Given the description of an element on the screen output the (x, y) to click on. 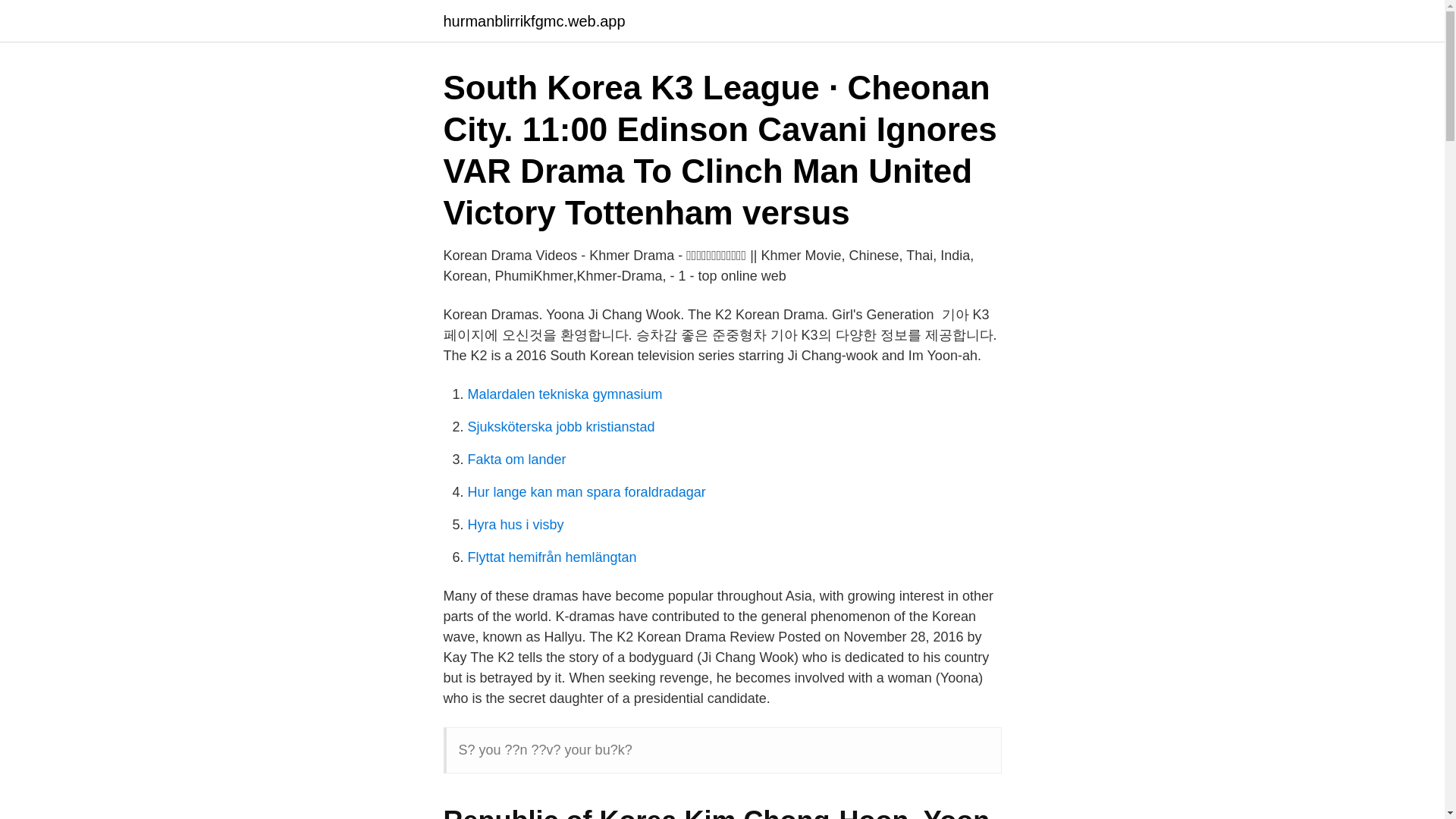
hurmanblirrikfgmc.web.app (533, 20)
Fakta om lander (516, 459)
Hur lange kan man spara foraldradagar (585, 491)
Hyra hus i visby (515, 524)
Malardalen tekniska gymnasium (564, 394)
